Given the description of an element on the screen output the (x, y) to click on. 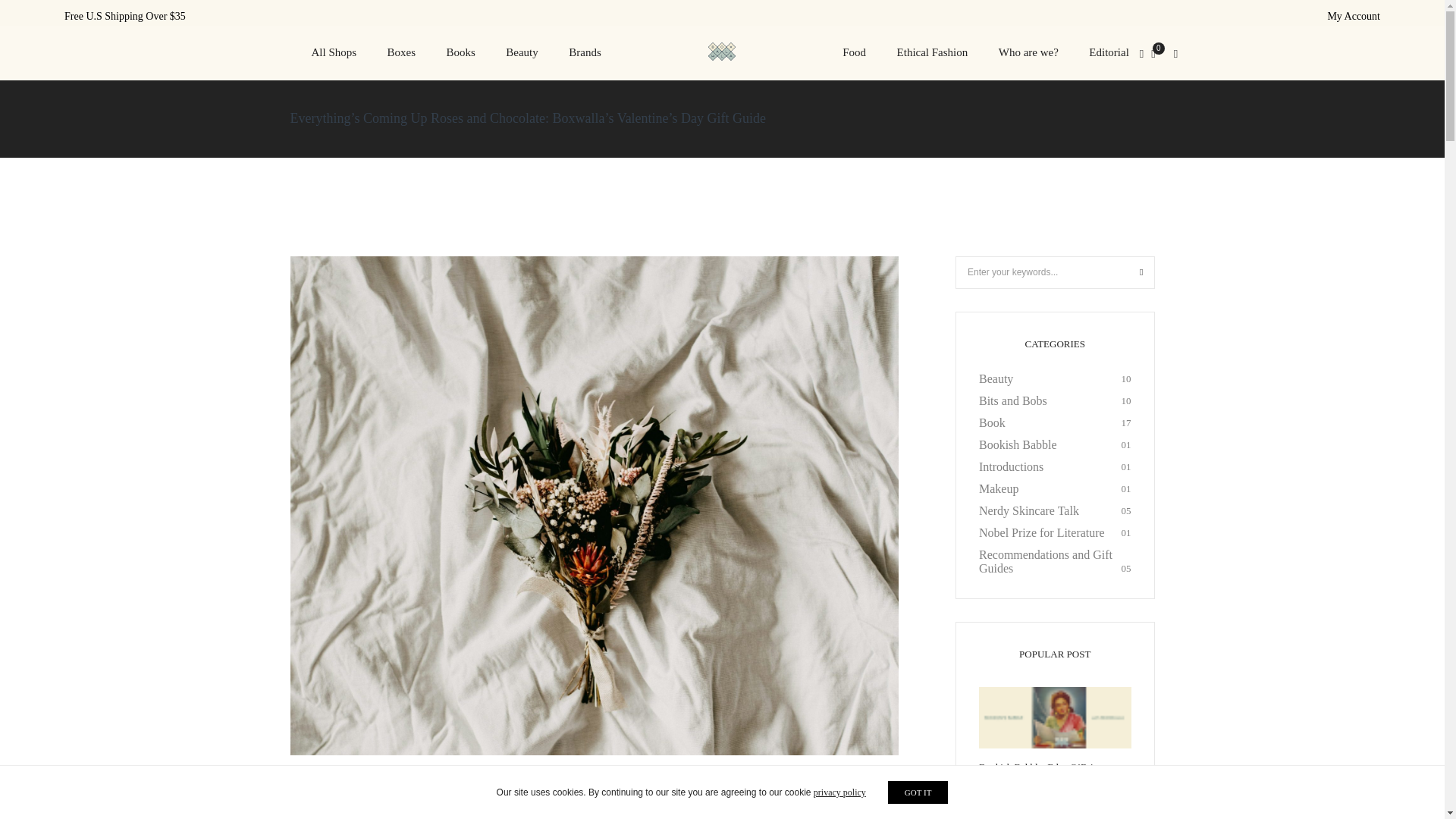
Boxes (401, 52)
Beauty (521, 52)
All Shops (340, 52)
Boxwalla (721, 53)
My Account (1353, 16)
Books (459, 52)
